Given the description of an element on the screen output the (x, y) to click on. 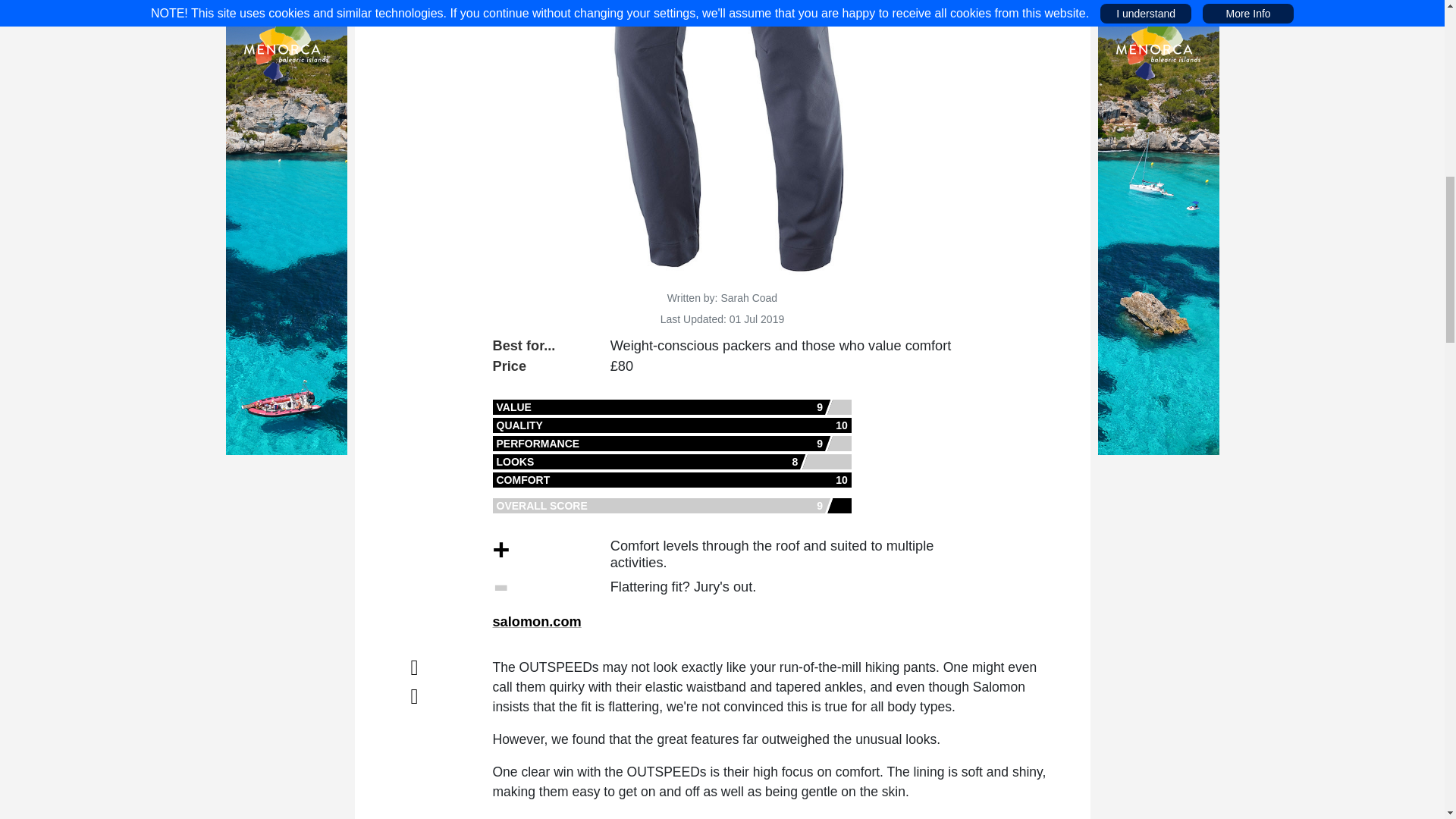
Share on Facebook (414, 667)
